Given the description of an element on the screen output the (x, y) to click on. 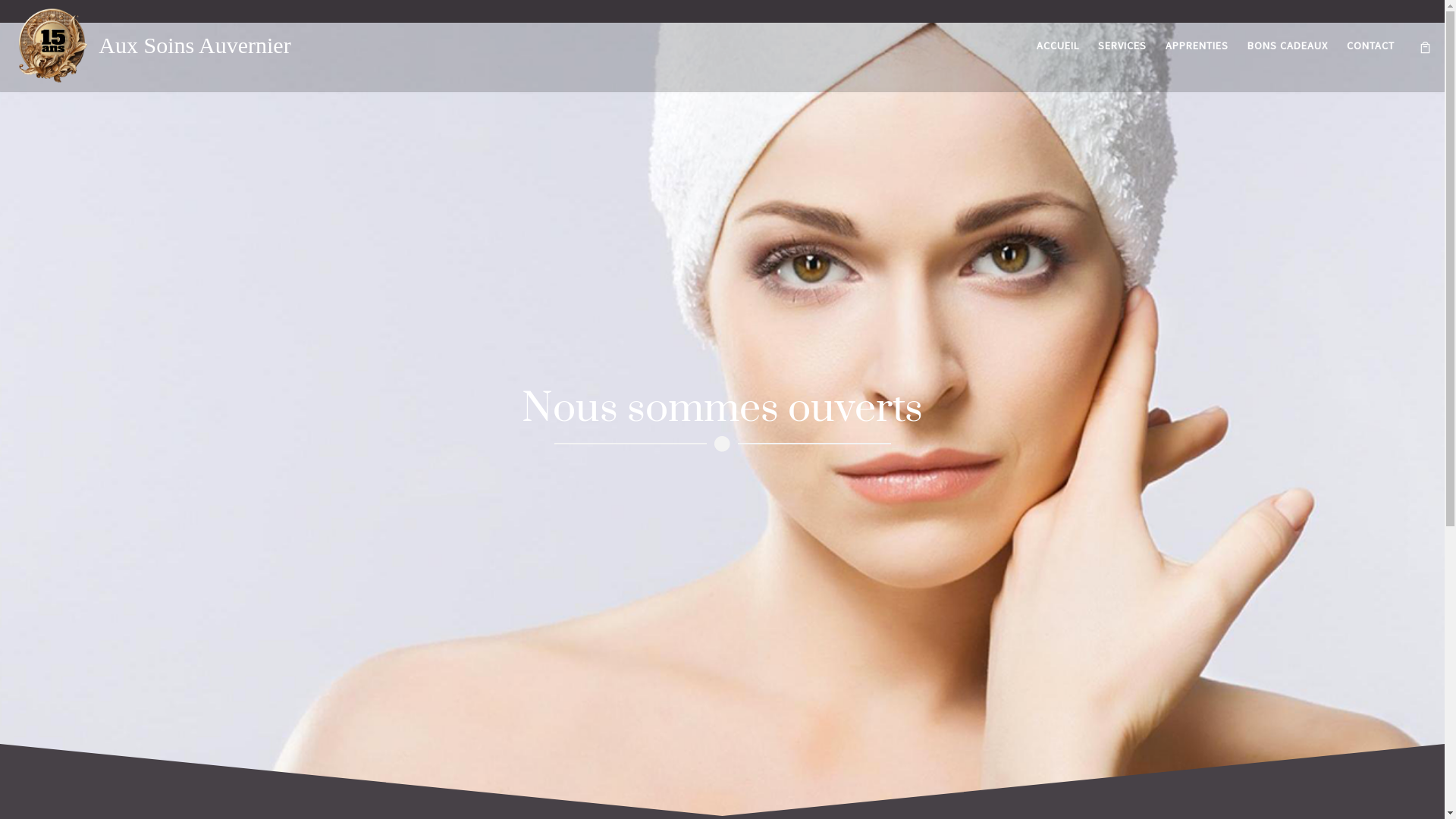
Skip to content Element type: text (57, 21)
SERVICES Element type: text (1122, 45)
Afficher votre panier Element type: hover (1424, 45)
Aux Soins Auvernier Element type: text (194, 45)
ACCUEIL Element type: text (1058, 45)
BONS CADEAUX Element type: text (1287, 45)
CONTACT Element type: text (1370, 45)
APPRENTIES Element type: text (1197, 45)
